Given the description of an element on the screen output the (x, y) to click on. 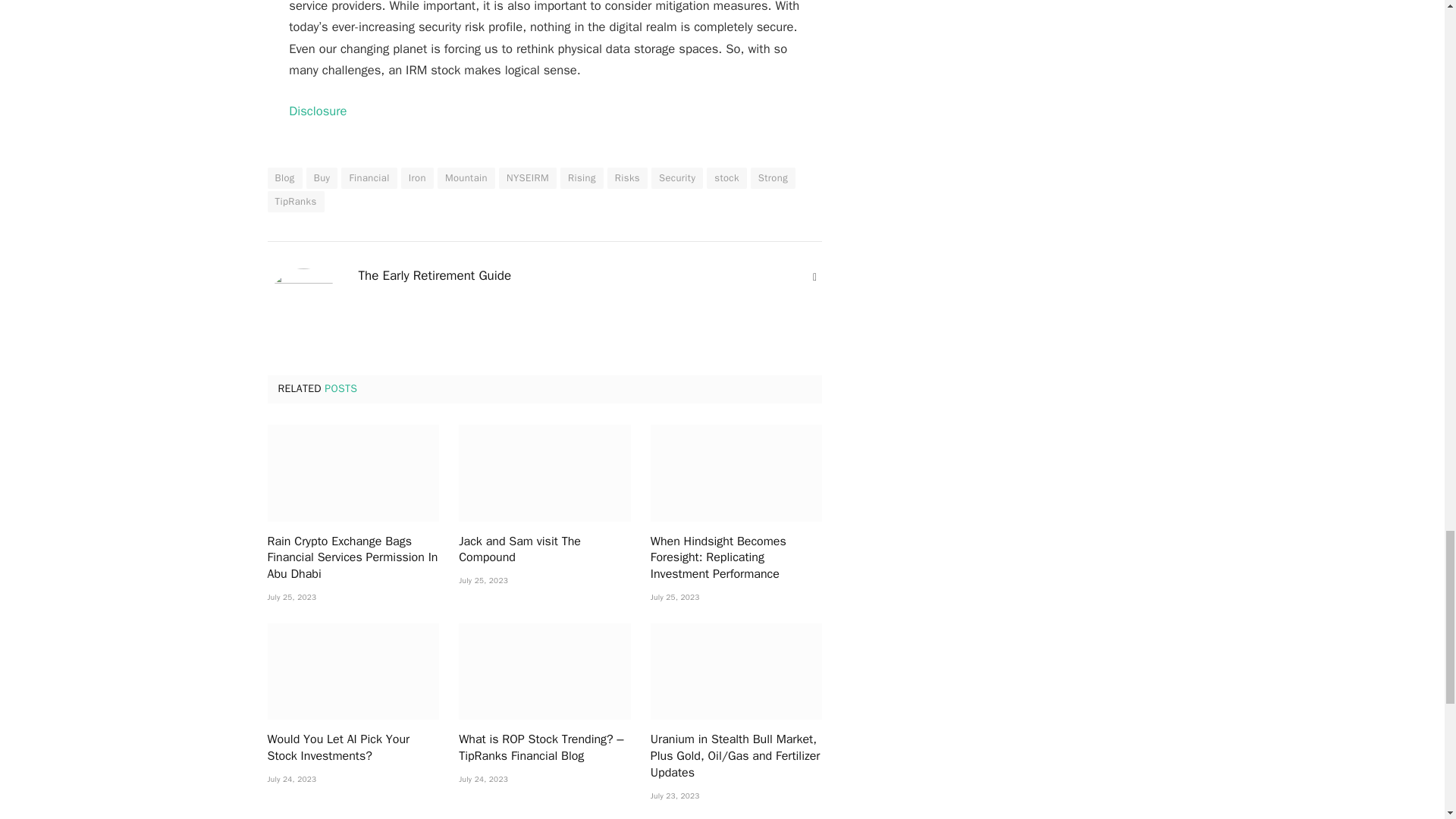
Jack and Sam visit The Compound (544, 472)
Posts by The Early Retirement Guide (434, 275)
Website (814, 277)
